Given the description of an element on the screen output the (x, y) to click on. 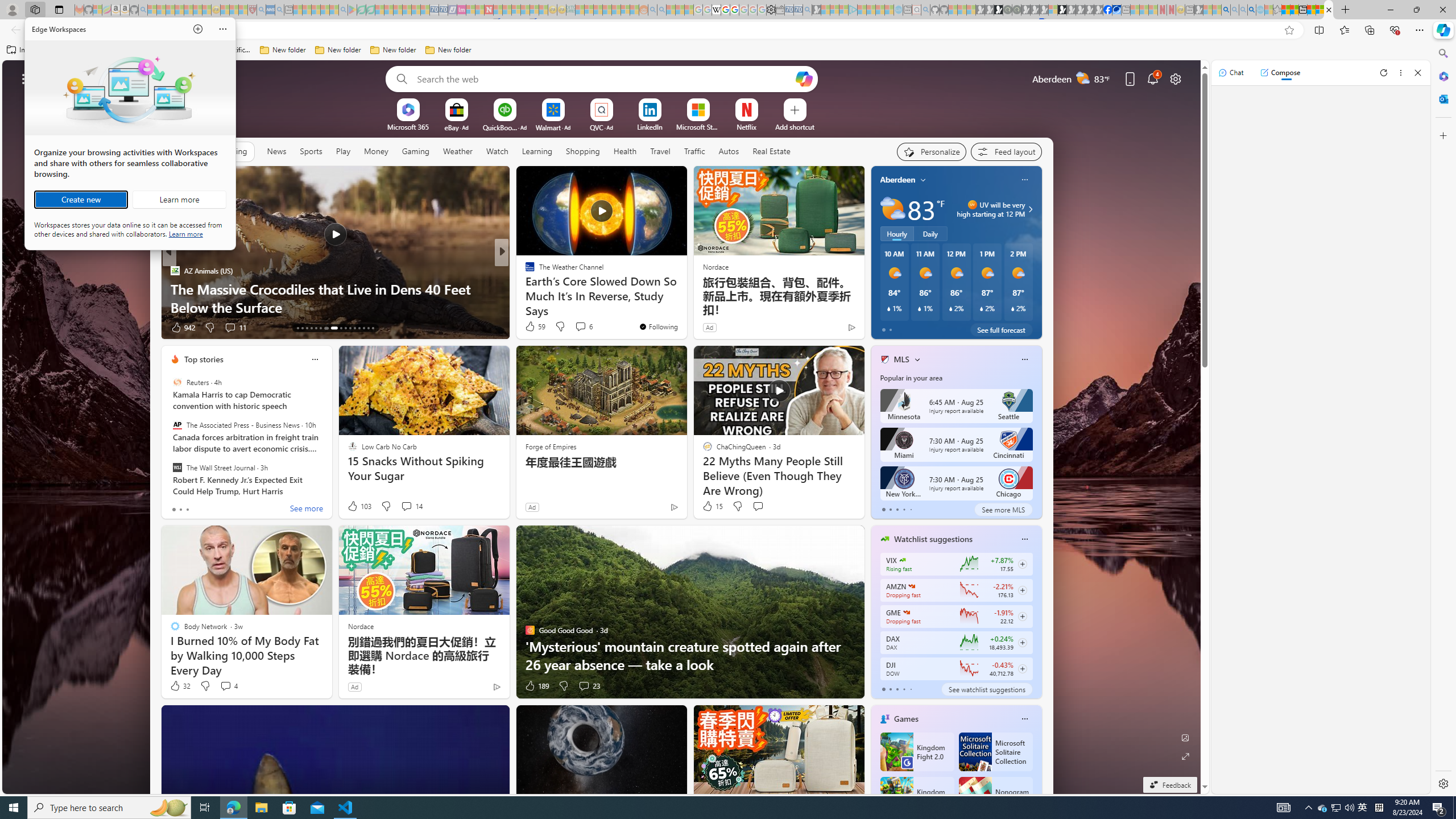
Search highlights icon opens search home window (167, 807)
Giant Freakin Robot (524, 288)
AutomationID: tab-25 (358, 328)
View comments 5 Comment (576, 327)
The Wall Street Journal (176, 466)
You're following The Weather Channel (657, 326)
63 Like (530, 327)
Action Center, 2 new notifications (1439, 807)
Page settings (1175, 78)
